Given the description of an element on the screen output the (x, y) to click on. 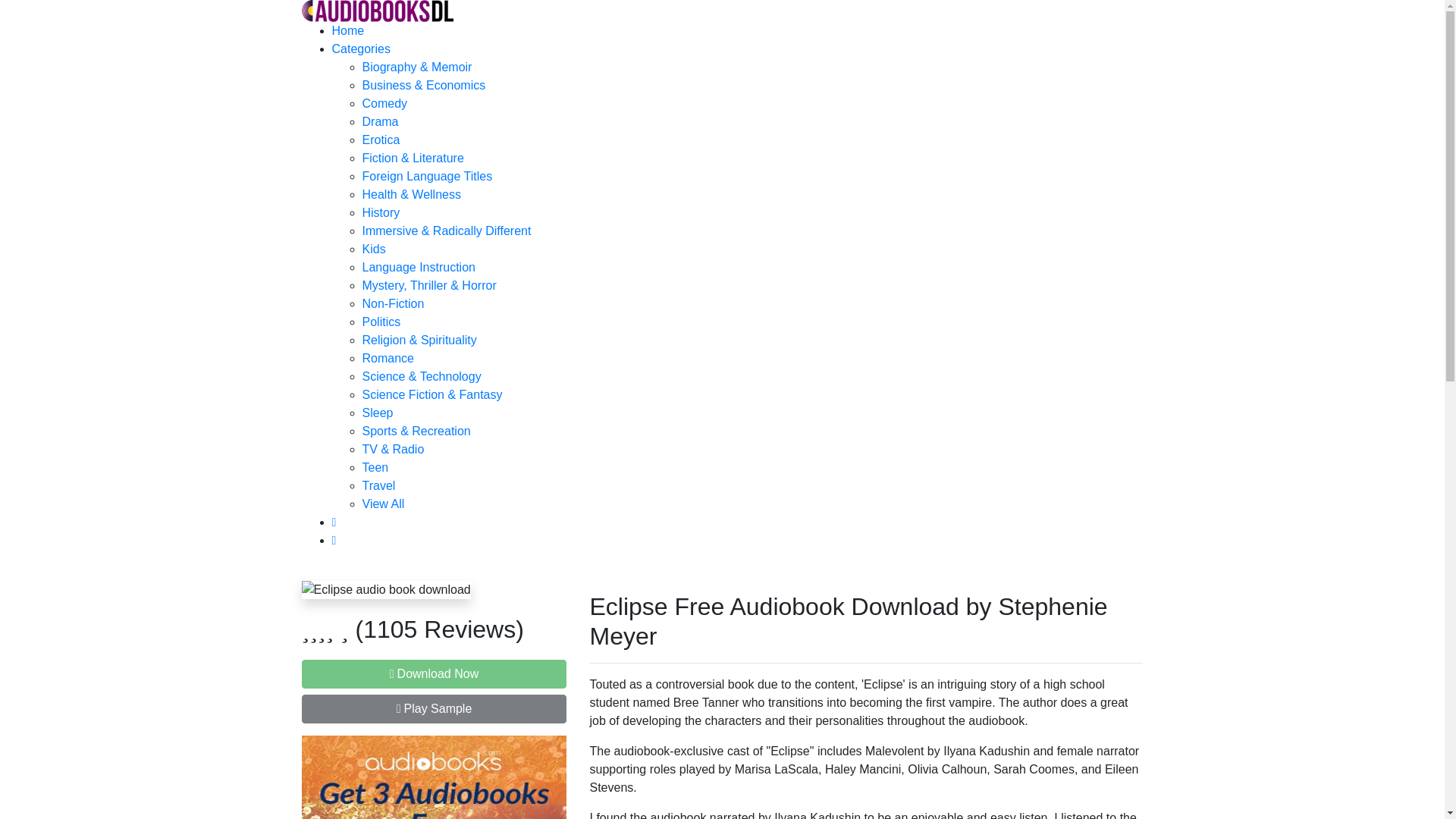
Sleep (377, 412)
Language Instruction (419, 267)
Comedy (384, 103)
Romance (387, 358)
Download Now (434, 674)
Categories (360, 48)
Non-Fiction (393, 303)
History (381, 212)
Home (348, 30)
Erotica (381, 139)
Travel (379, 485)
Politics (381, 321)
View All (383, 503)
Drama (380, 121)
Kids (373, 248)
